Given the description of an element on the screen output the (x, y) to click on. 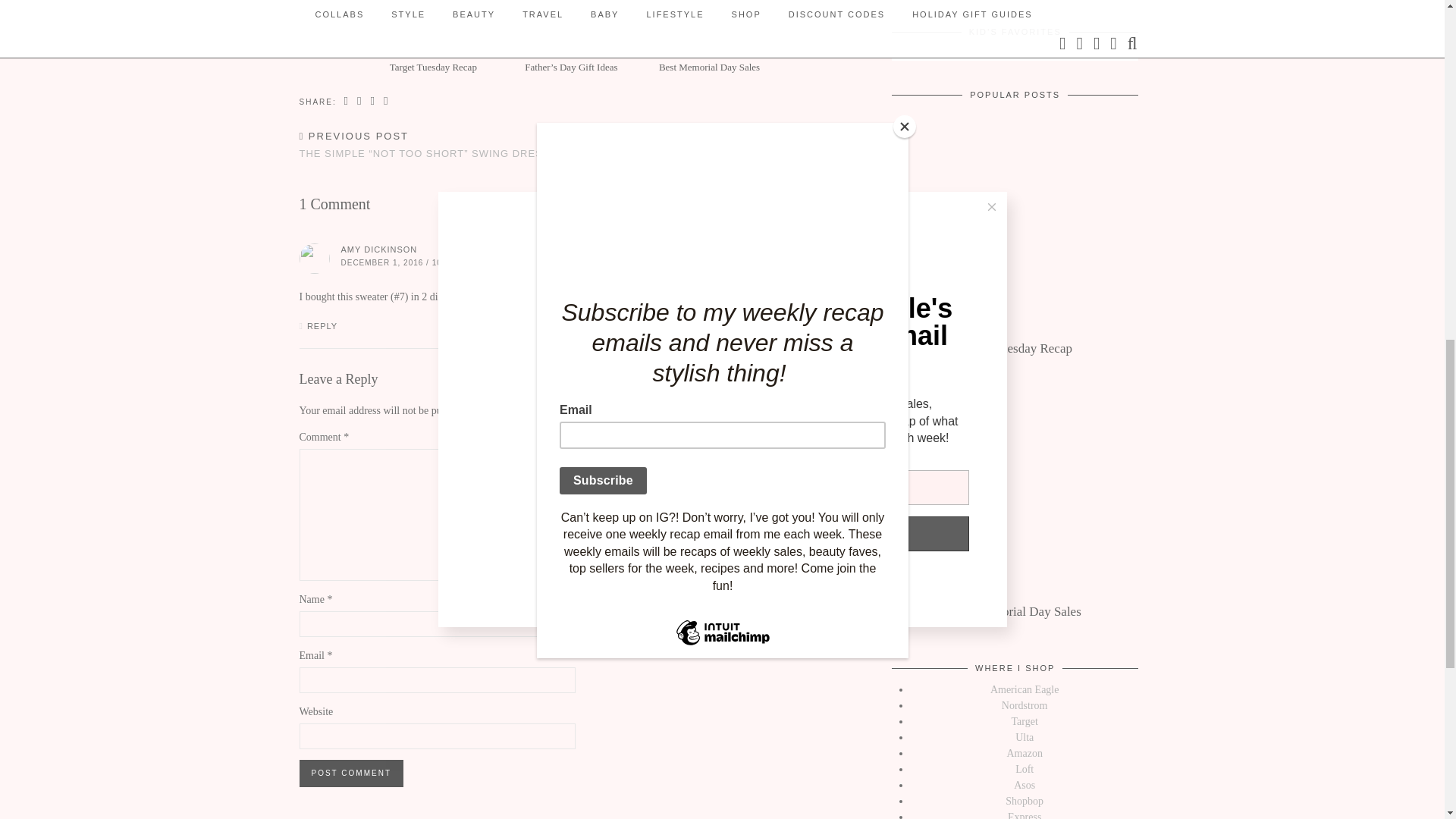
Post Comment (350, 773)
